Given the description of an element on the screen output the (x, y) to click on. 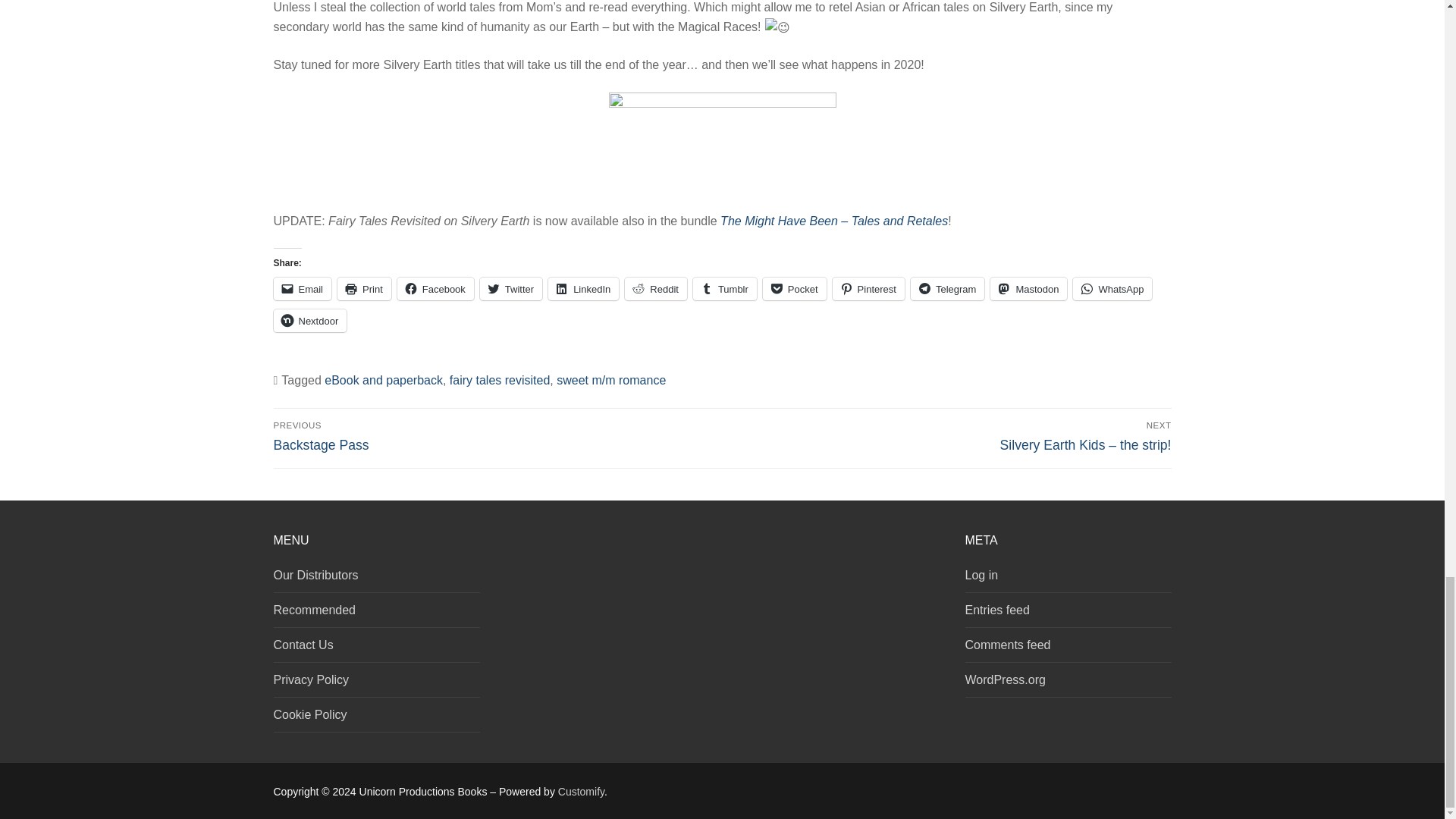
Click to share on Telegram (947, 288)
Click to print (364, 288)
Click to share on Pinterest (868, 288)
Click to share on Twitter (510, 288)
Email (302, 288)
Click to share on Pocket (794, 288)
Click to email a link to a friend (302, 288)
Click to share on Mastodon (1028, 288)
Click to share on Tumblr (725, 288)
Click to share on Nextdoor (309, 320)
Click to share on Reddit (655, 288)
Click to share on Facebook (435, 288)
Print (364, 288)
Click to share on LinkedIn (583, 288)
Click to share on WhatsApp (1112, 288)
